Given the description of an element on the screen output the (x, y) to click on. 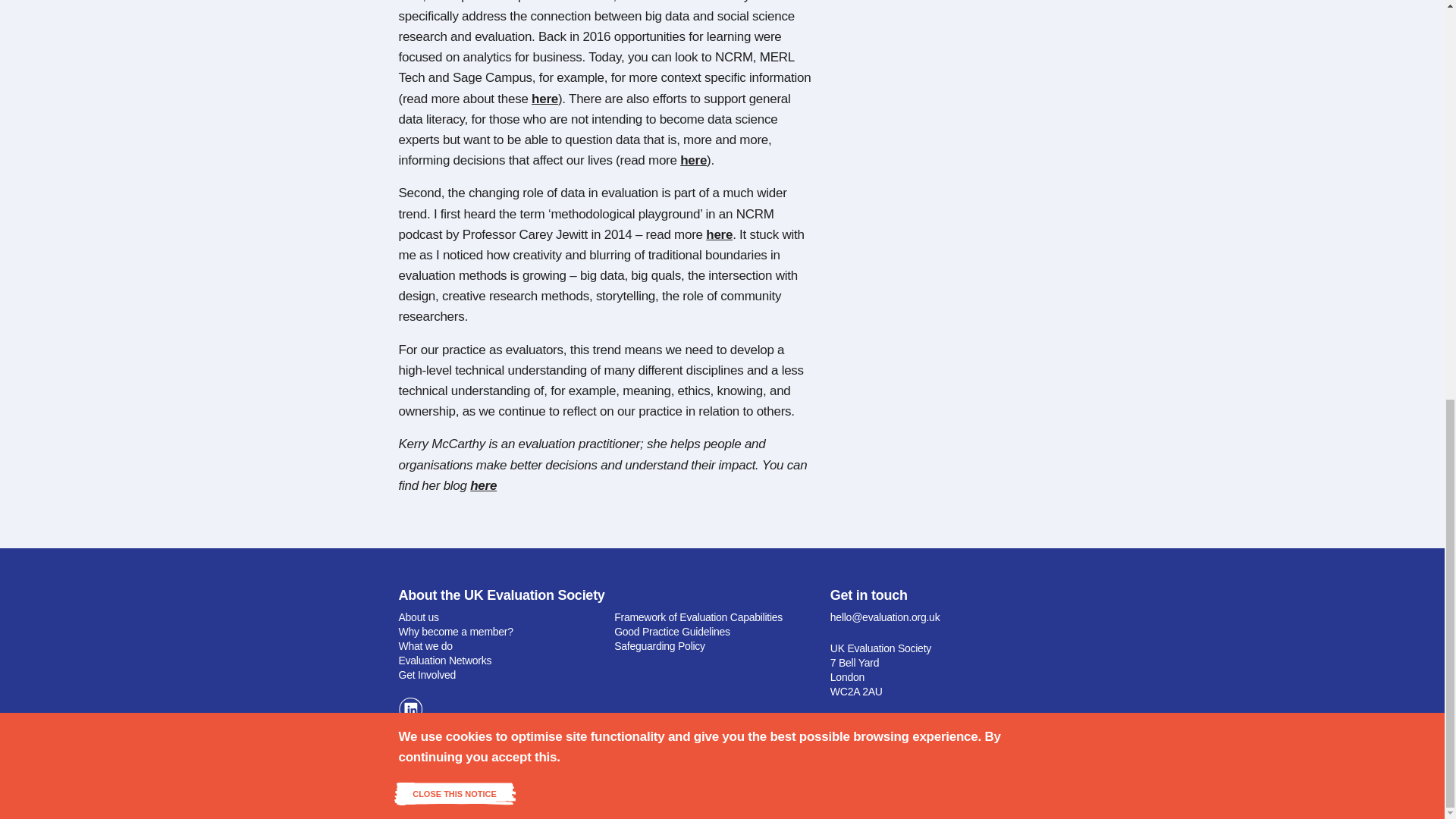
Good Practice Guidelines (672, 631)
Safeguarding Policy (659, 645)
here (483, 485)
Why become a member? (455, 631)
Framework of Evaluation Capabilities (698, 616)
Evaluation Networks (445, 660)
What we do (425, 645)
here (544, 98)
CLOSE THIS NOTICE (454, 13)
UKES Advertising Terms and Conditions (968, 780)
here (719, 234)
About us (418, 616)
here (692, 160)
Site Privacy Policy (840, 780)
Get Involved (427, 674)
